Given the description of an element on the screen output the (x, y) to click on. 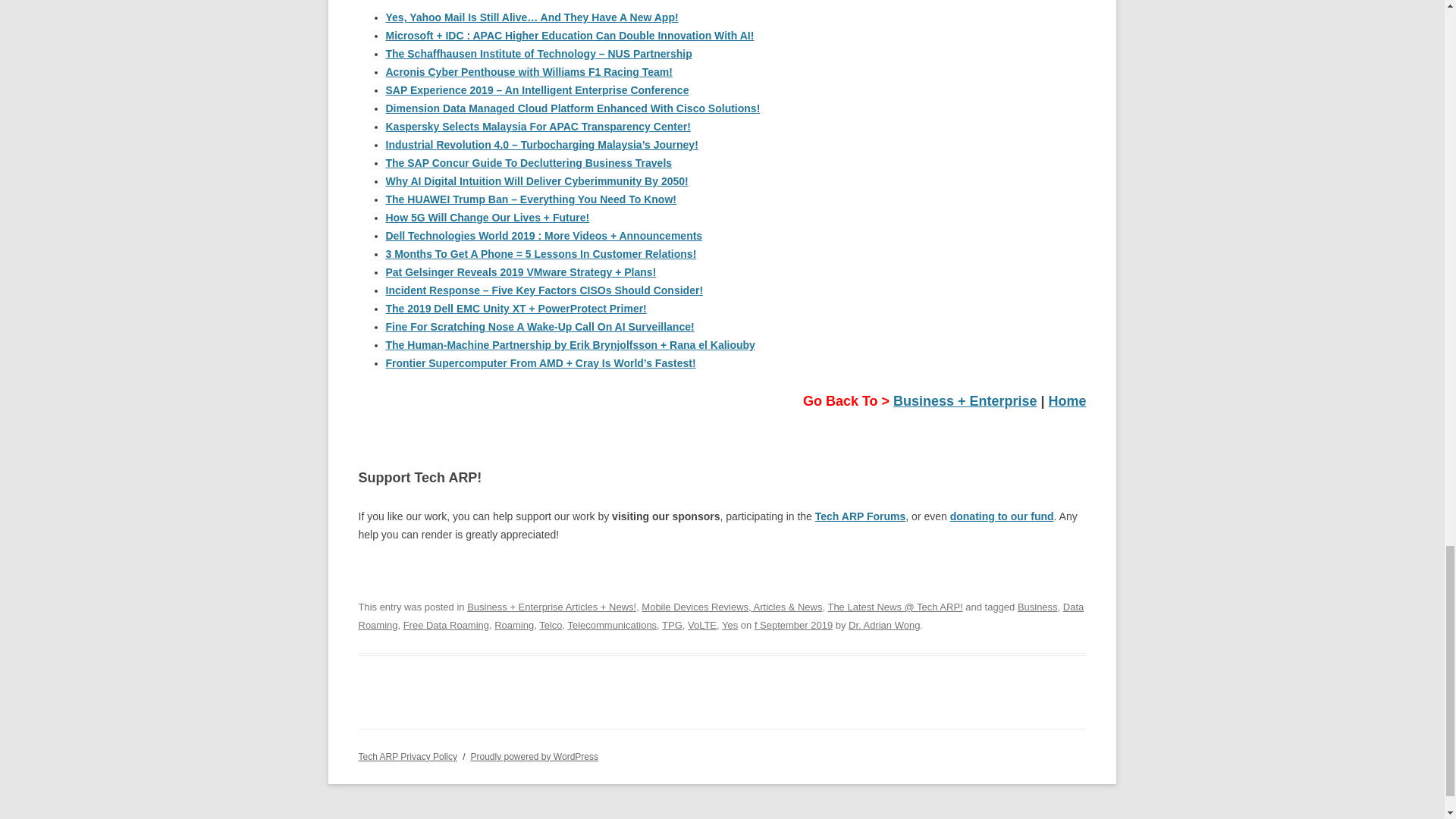
Kaspersky Selects Malaysia For APAC Transparency Center! (537, 126)
Semantic Personal Publishing Platform (534, 756)
Why AI Digital Intuition Will Deliver Cyberimmunity By 2050! (536, 181)
The SAP Concur Guide To Decluttering Business Travels (528, 162)
Fine For Scratching Nose A Wake-Up Call On AI Surveillance! (539, 326)
Acronis Cyber Penthouse with Williams F1 Racing Team! (528, 71)
12:12 pm (793, 624)
Home (1067, 400)
Tech ARP Forums (860, 516)
